Given the description of an element on the screen output the (x, y) to click on. 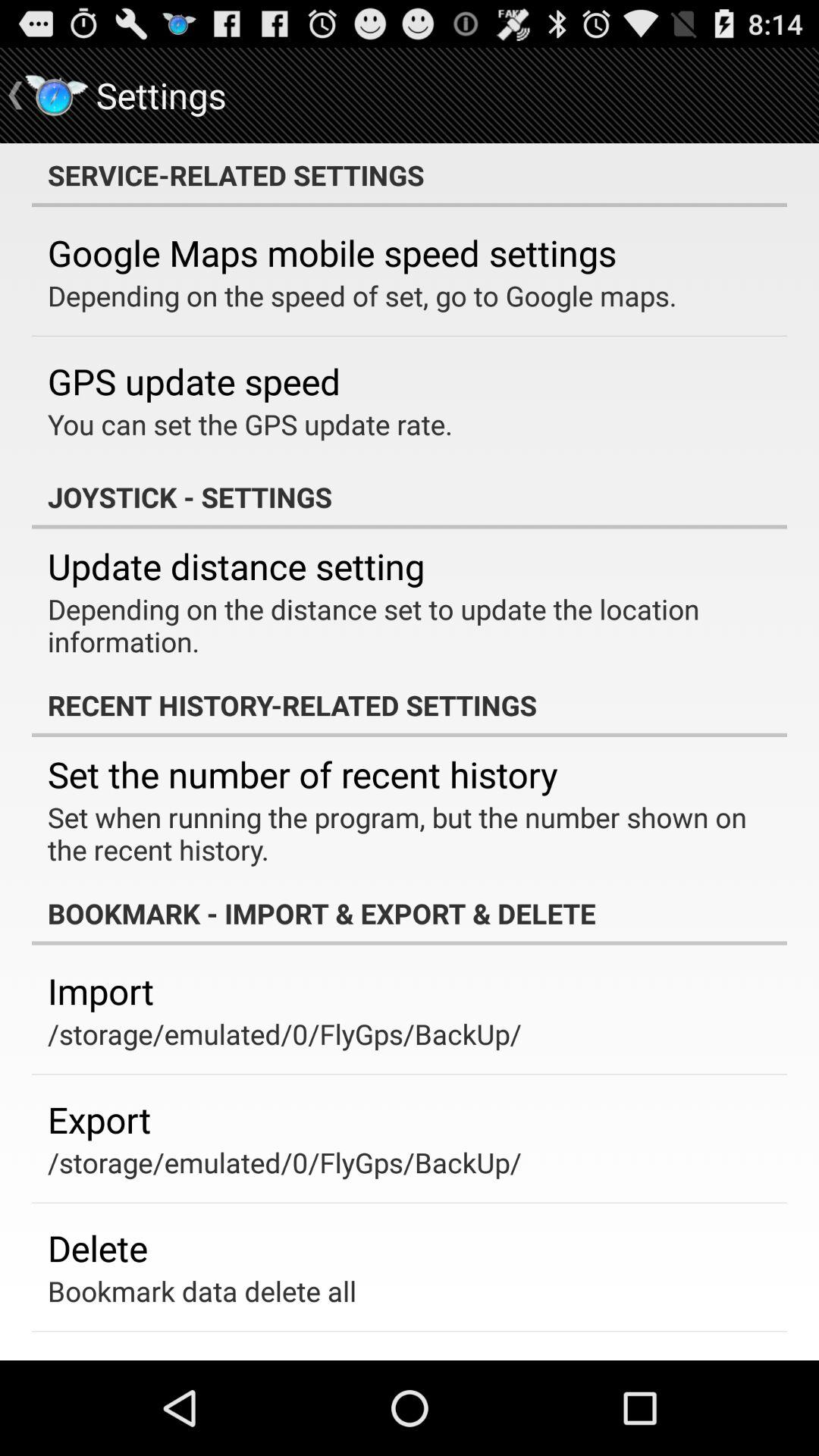
tap the item above the import (409, 913)
